Given the description of an element on the screen output the (x, y) to click on. 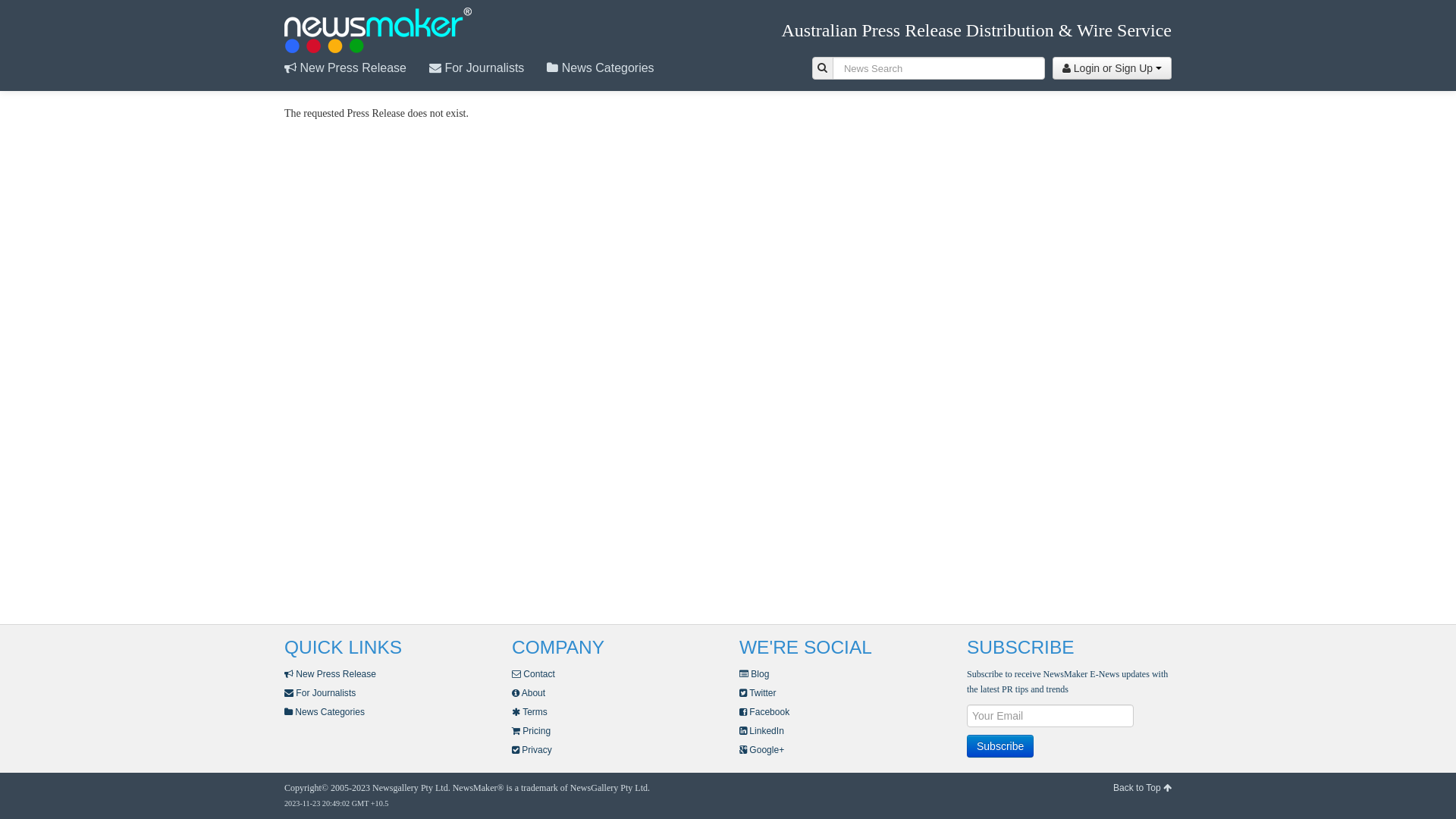
Twitter Element type: text (757, 692)
News Categories Element type: text (611, 68)
Terms Element type: text (529, 711)
Google+ Element type: text (761, 749)
New Press Release Element type: text (356, 68)
Facebook Element type: text (764, 711)
New Press Release Element type: text (330, 673)
News Categories Element type: text (324, 711)
About Element type: text (528, 692)
Pricing Element type: text (530, 730)
Back to Top Element type: text (1142, 787)
Subscribe Element type: text (999, 745)
LinkedIn Element type: text (761, 730)
Login or Sign Up Element type: text (1111, 67)
Privacy Element type: text (531, 749)
For Journalists Element type: text (487, 68)
For Journalists Element type: text (319, 692)
Contact Element type: text (533, 673)
Blog Element type: text (753, 673)
